Given the description of an element on the screen output the (x, y) to click on. 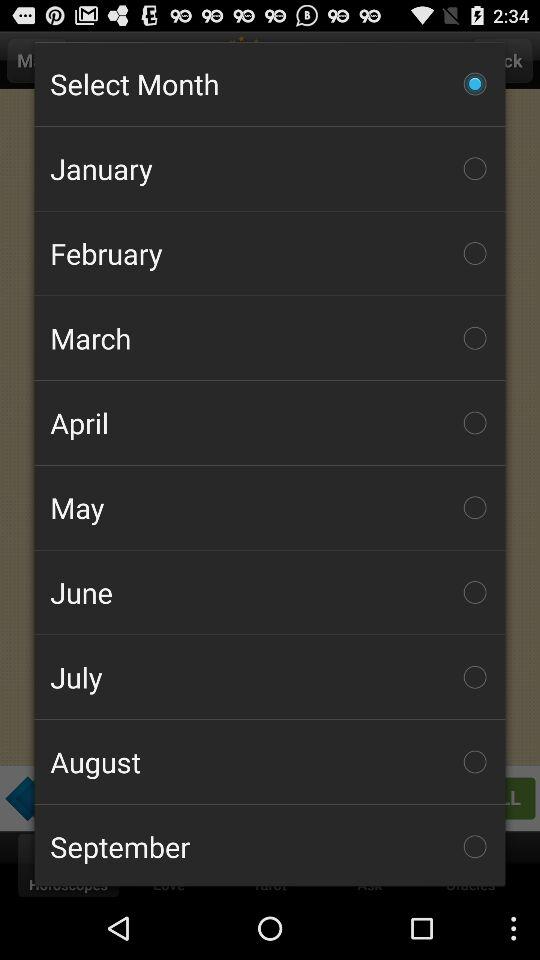
jump until the august item (269, 761)
